Given the description of an element on the screen output the (x, y) to click on. 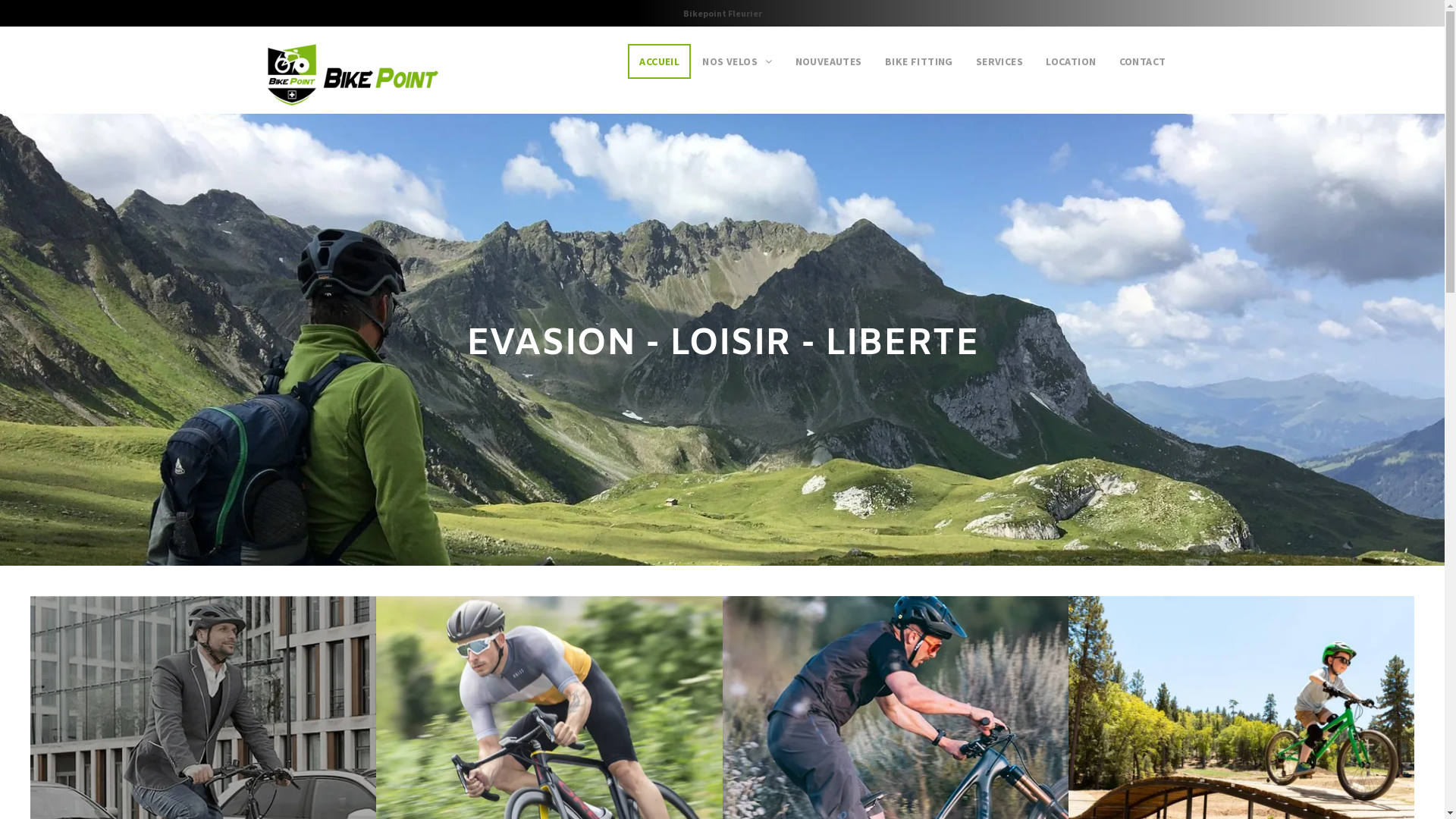
LOCATION Element type: text (1070, 60)
NOUVEAUTES Element type: text (828, 60)
NOS VELOS Element type: text (736, 60)
CONTACT Element type: text (1142, 60)
SERVICES Element type: text (999, 60)
BIKE FITTING Element type: text (918, 60)
ACCUEIL Element type: text (658, 60)
